Given the description of an element on the screen output the (x, y) to click on. 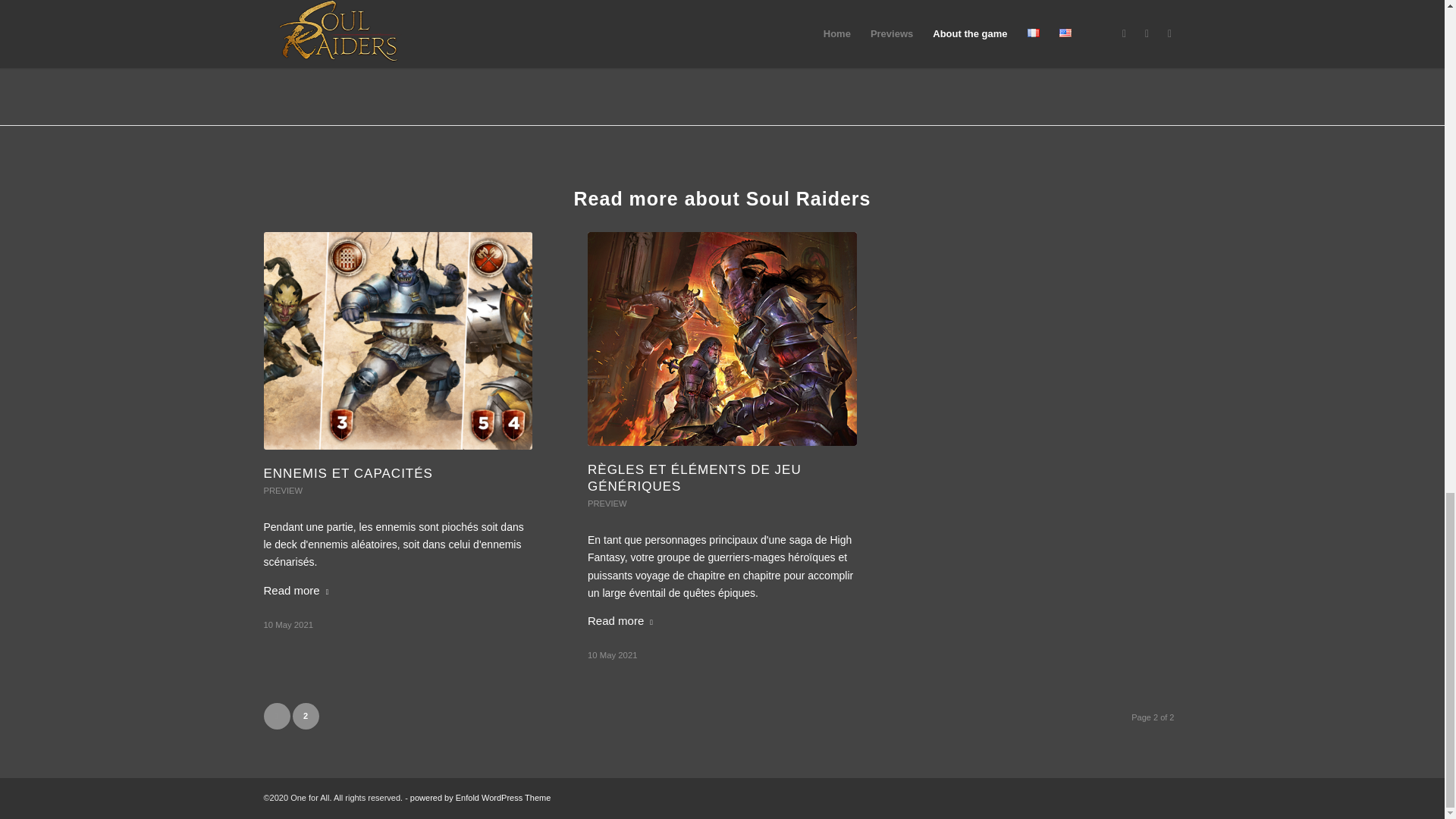
PREVIEW (282, 490)
1 (276, 715)
PREVIEW (607, 502)
Read more (623, 620)
Read more (298, 590)
powered by Enfold WordPress Theme (480, 797)
